Given the description of an element on the screen output the (x, y) to click on. 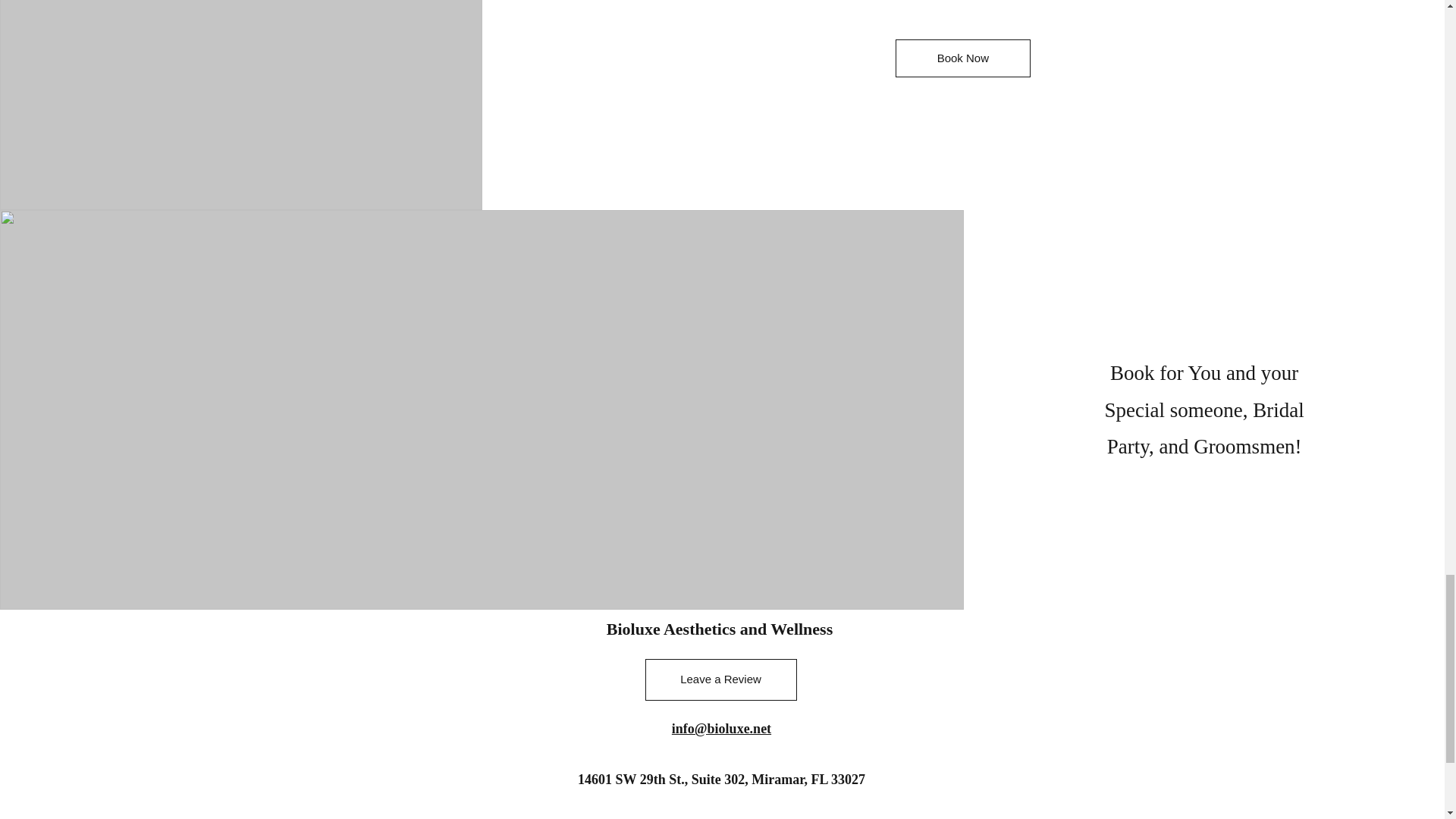
Bioluxe Aesthetics and Wellness (719, 628)
Leave a Review (720, 680)
Book Now (962, 57)
